Given the description of an element on the screen output the (x, y) to click on. 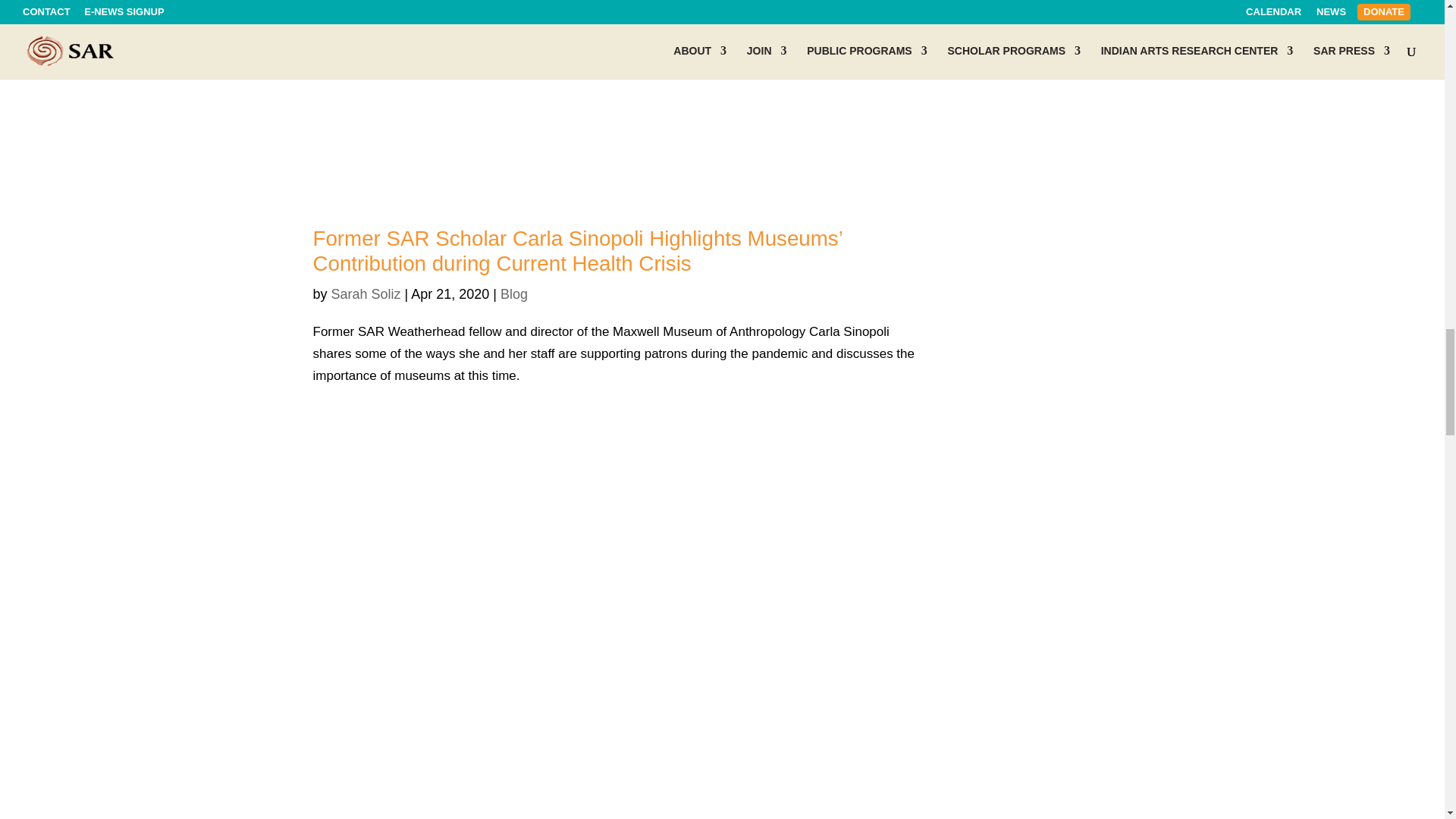
Posts by Sarah Soliz (366, 294)
